Given the description of an element on the screen output the (x, y) to click on. 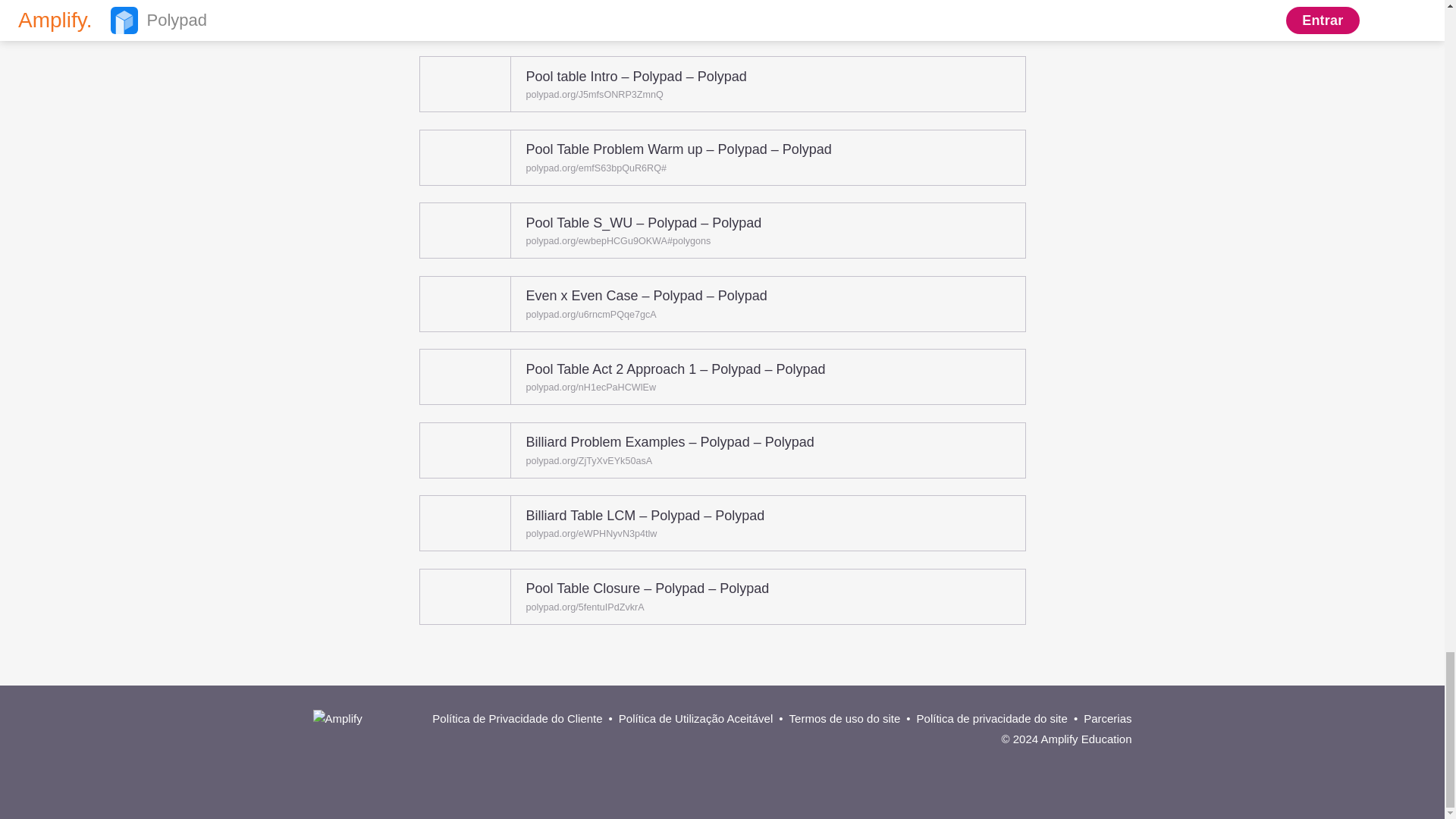
YouTube (1118, 761)
Twitter (1040, 761)
Amplify (358, 721)
Facebook (1067, 761)
Instagram (1092, 761)
